Given the description of an element on the screen output the (x, y) to click on. 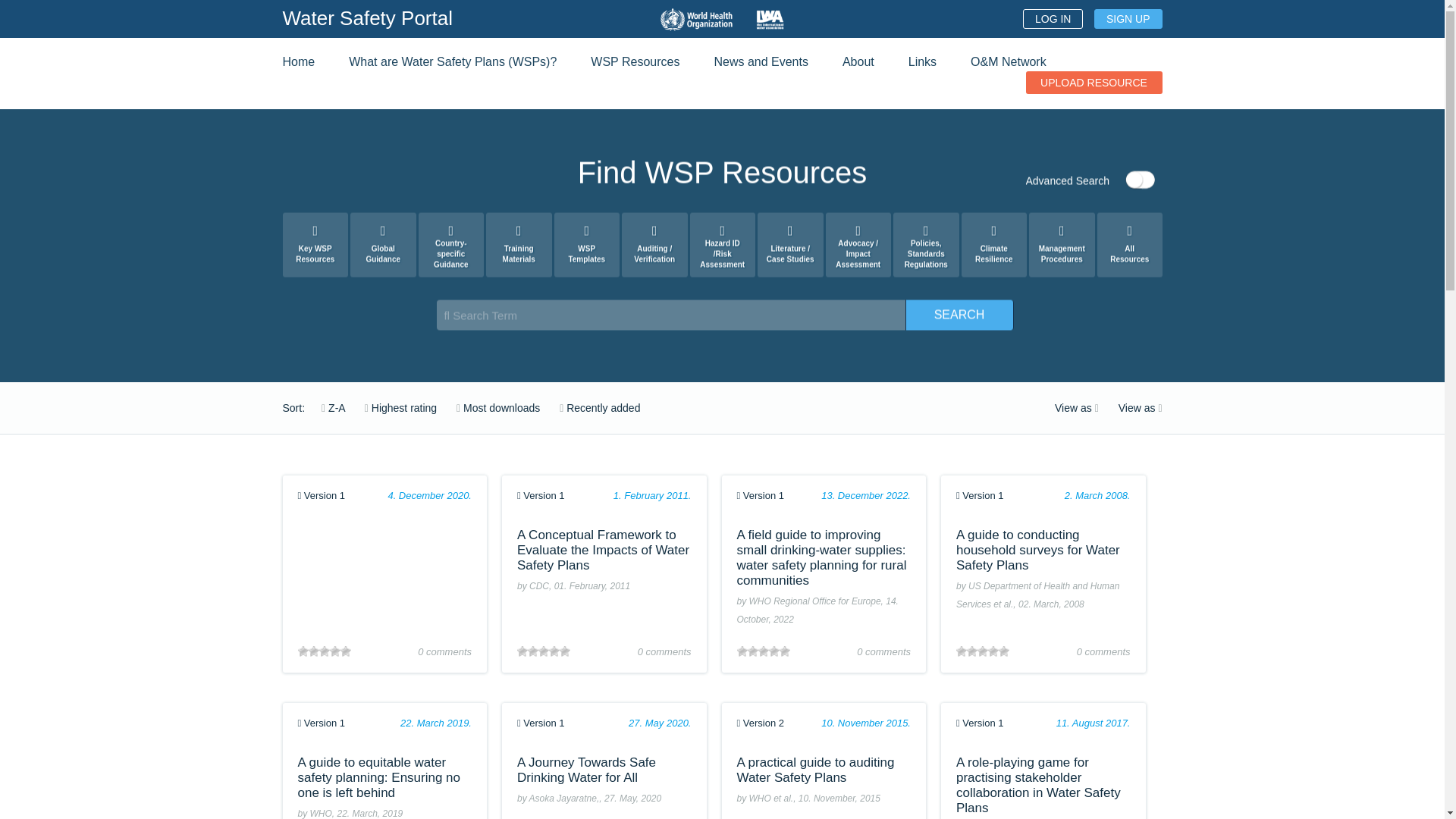
Policies, Standards Regulations (926, 244)
View as (1068, 408)
0 votes, average: 0.00 out of 5 (312, 651)
View as (1131, 408)
All Resources (1128, 244)
0 votes, average: 0.00 out of 5 (344, 651)
Z-A (324, 408)
Most downloads (489, 408)
Global Guidance (383, 244)
Management Procedures (1061, 244)
LOG IN (1053, 18)
0 votes, average: 0.00 out of 5 (521, 651)
0 votes, average: 0.00 out of 5 (302, 651)
News and Events (760, 61)
